Given the description of an element on the screen output the (x, y) to click on. 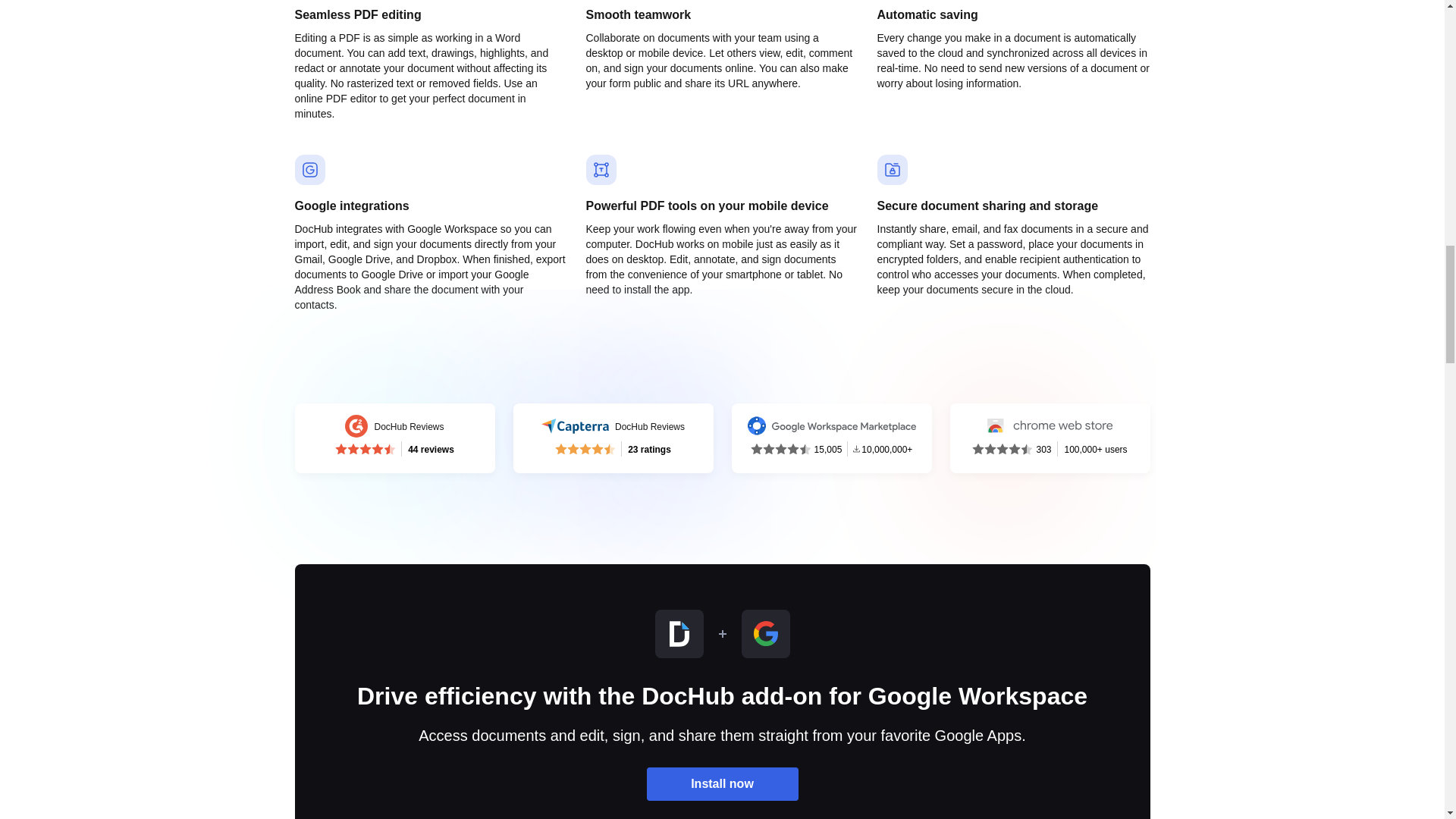
Install now (721, 783)
